Given the description of an element on the screen output the (x, y) to click on. 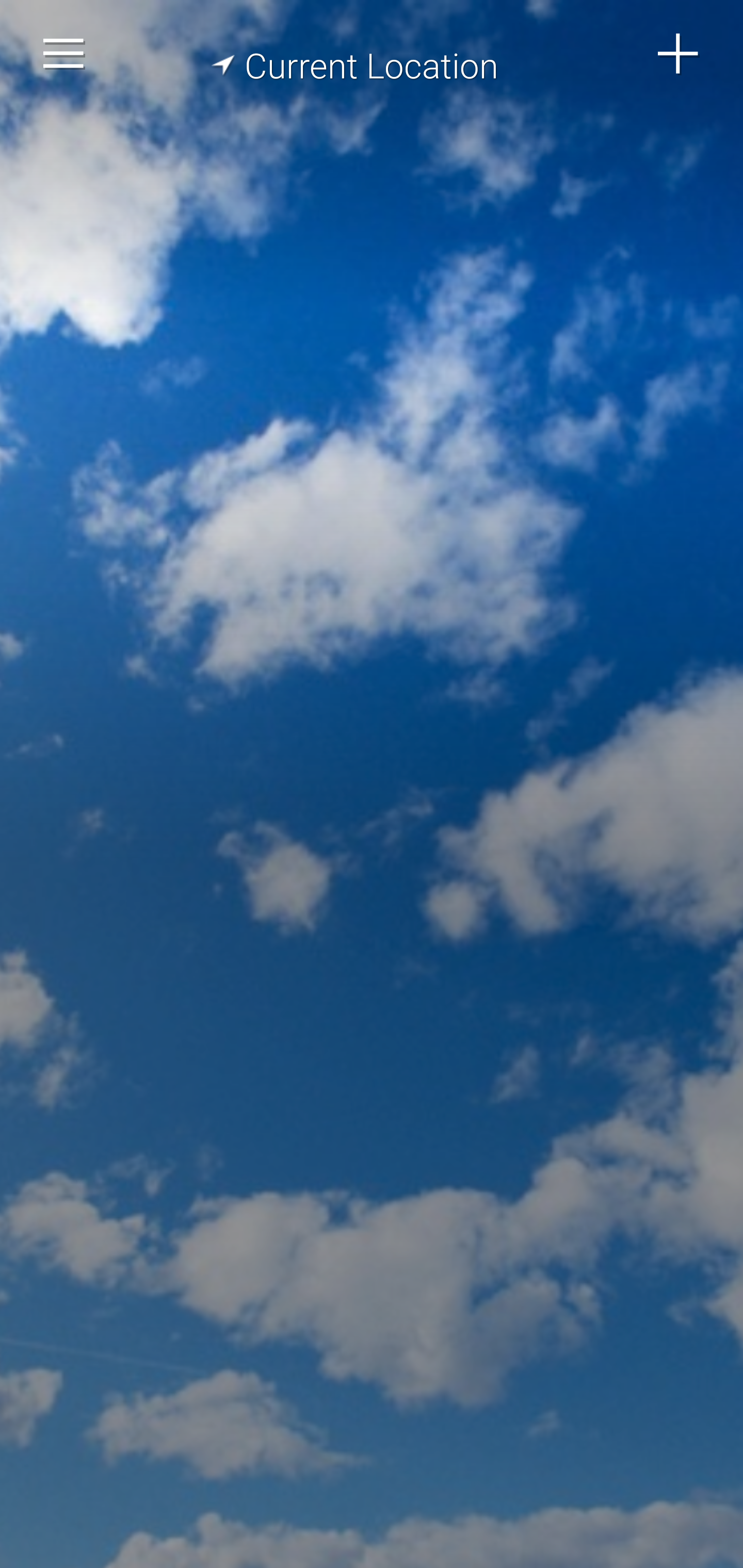
Sidebar (64, 54)
Add City (678, 53)
